Given the description of an element on the screen output the (x, y) to click on. 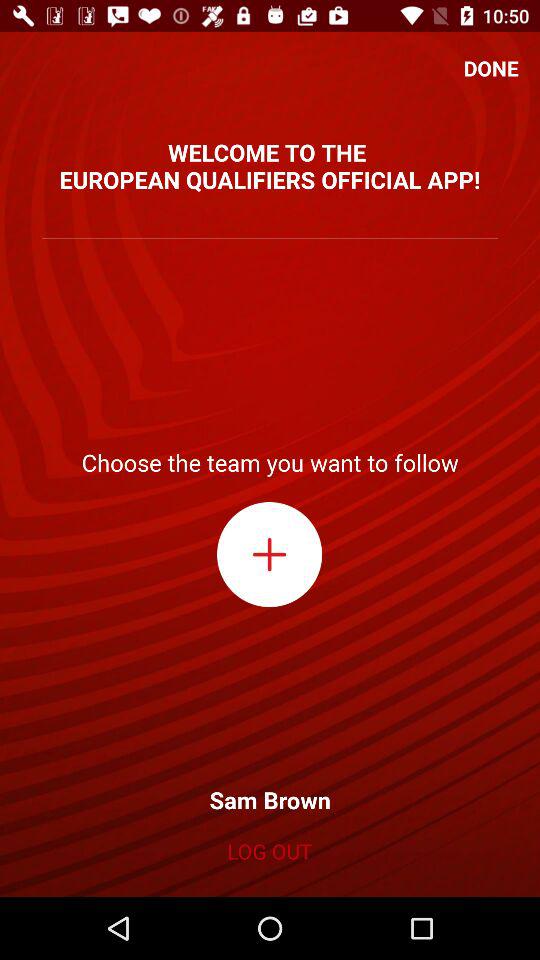
tap icon below sam brown (269, 851)
